Given the description of an element on the screen output the (x, y) to click on. 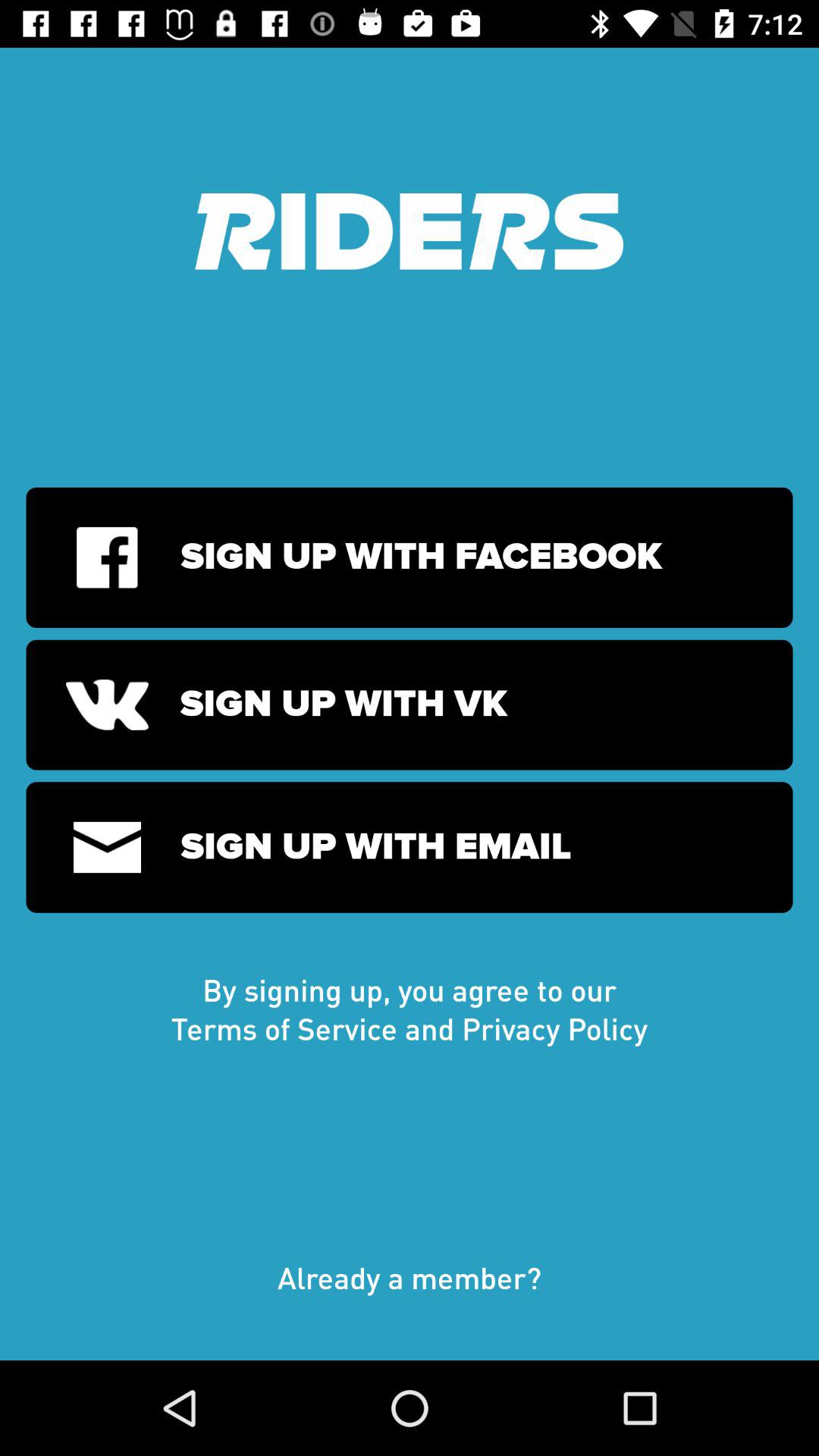
click icon below the by signing up icon (409, 1293)
